Given the description of an element on the screen output the (x, y) to click on. 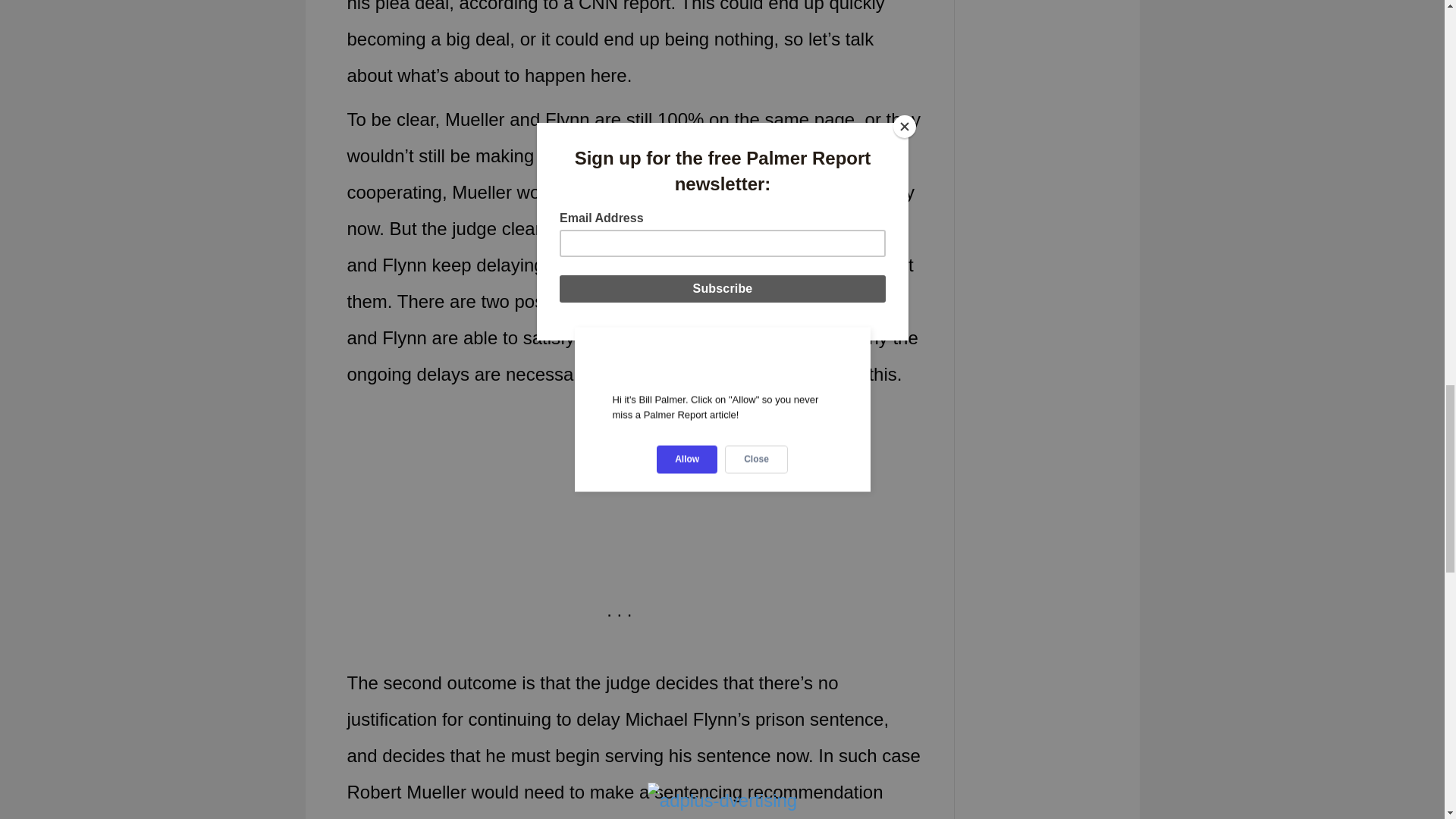
Advertisement (474, 510)
Advertisement (764, 510)
